Given the description of an element on the screen output the (x, y) to click on. 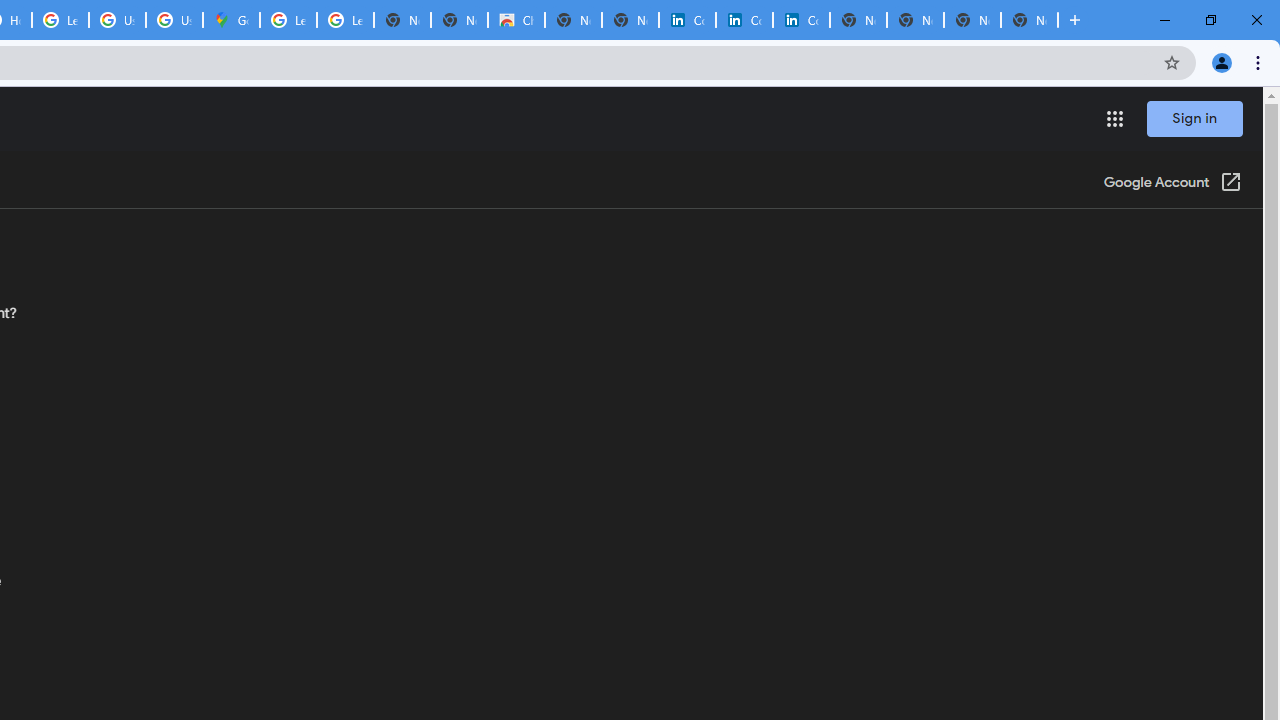
Copyright Policy (801, 20)
Google Account (Open in a new window) (1172, 183)
Cookie Policy | LinkedIn (744, 20)
Cookie Policy | LinkedIn (687, 20)
Chrome Web Store (516, 20)
Google Maps (231, 20)
